Given the description of an element on the screen output the (x, y) to click on. 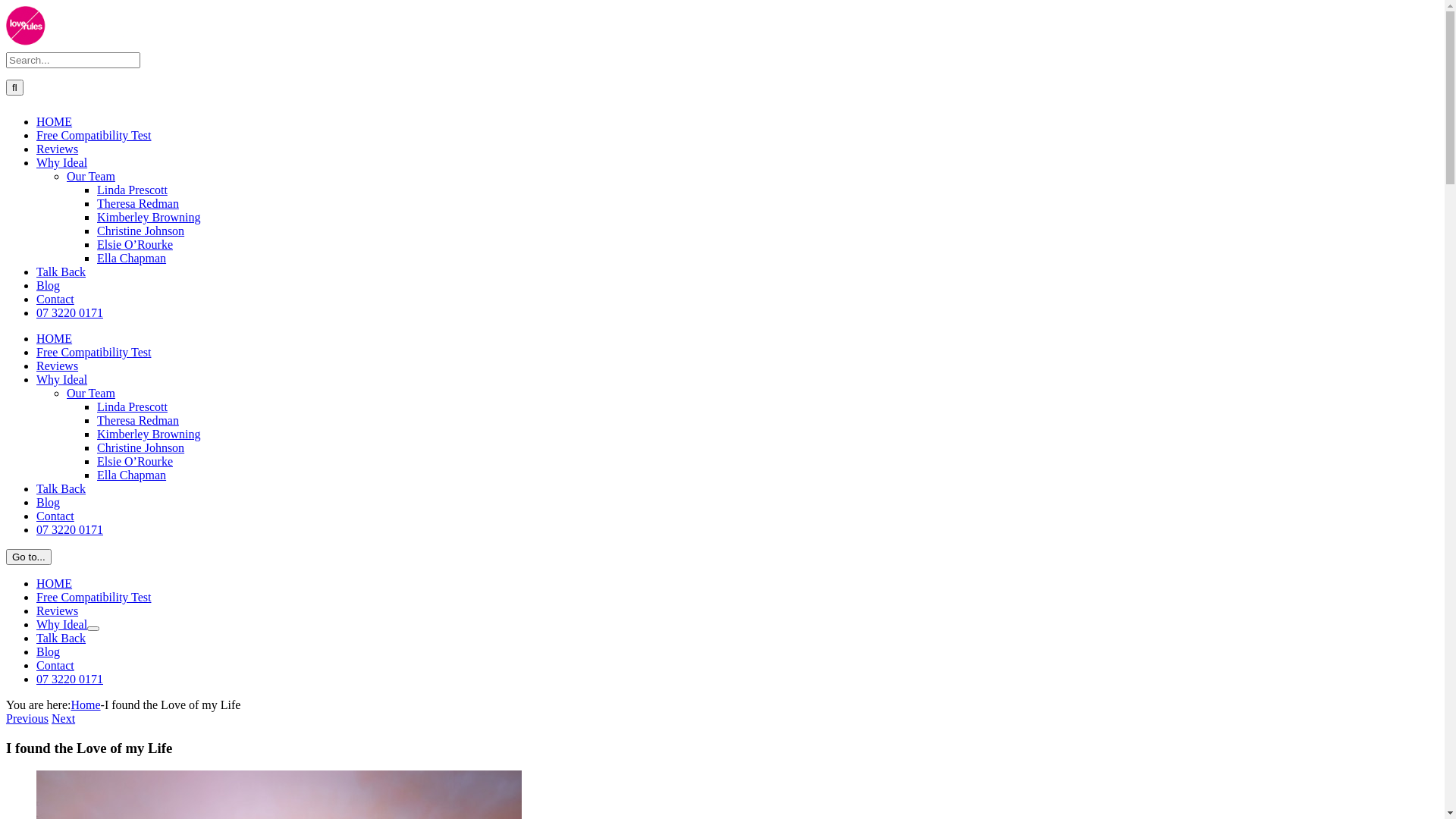
Reviews Element type: text (57, 610)
Talk Back Element type: text (60, 637)
Blog Element type: text (47, 651)
Contact Element type: text (55, 664)
Why Ideal Element type: text (61, 162)
Why Ideal Element type: text (61, 624)
Kimberley Browning Element type: text (148, 433)
Contact Element type: text (55, 515)
HOME Element type: text (54, 121)
Linda Prescott Element type: text (132, 406)
Talk Back Element type: text (60, 488)
07 3220 0171 Element type: text (69, 529)
Blog Element type: text (47, 285)
Free Compatibility Test Element type: text (93, 134)
Kimberley Browning Element type: text (148, 216)
HOME Element type: text (54, 338)
Free Compatibility Test Element type: text (93, 351)
07 3220 0171 Element type: text (69, 678)
Blog Element type: text (47, 501)
Our Team Element type: text (90, 392)
Ella Chapman Element type: text (131, 257)
Skip to content Element type: text (5, 5)
Next Element type: text (63, 718)
Christine Johnson Element type: text (140, 230)
Ella Chapman Element type: text (131, 474)
Theresa Redman Element type: text (137, 420)
Reviews Element type: text (57, 365)
Linda Prescott Element type: text (132, 189)
HOME Element type: text (54, 583)
07 3220 0171 Element type: text (69, 312)
Theresa Redman Element type: text (137, 203)
Contact Element type: text (55, 298)
Home Element type: text (85, 704)
Previous Element type: text (27, 718)
Reviews Element type: text (57, 148)
Free Compatibility Test Element type: text (93, 596)
Our Team Element type: text (90, 175)
Go to... Element type: text (28, 556)
Why Ideal Element type: text (61, 379)
Christine Johnson Element type: text (140, 447)
Talk Back Element type: text (60, 271)
